Given the description of an element on the screen output the (x, y) to click on. 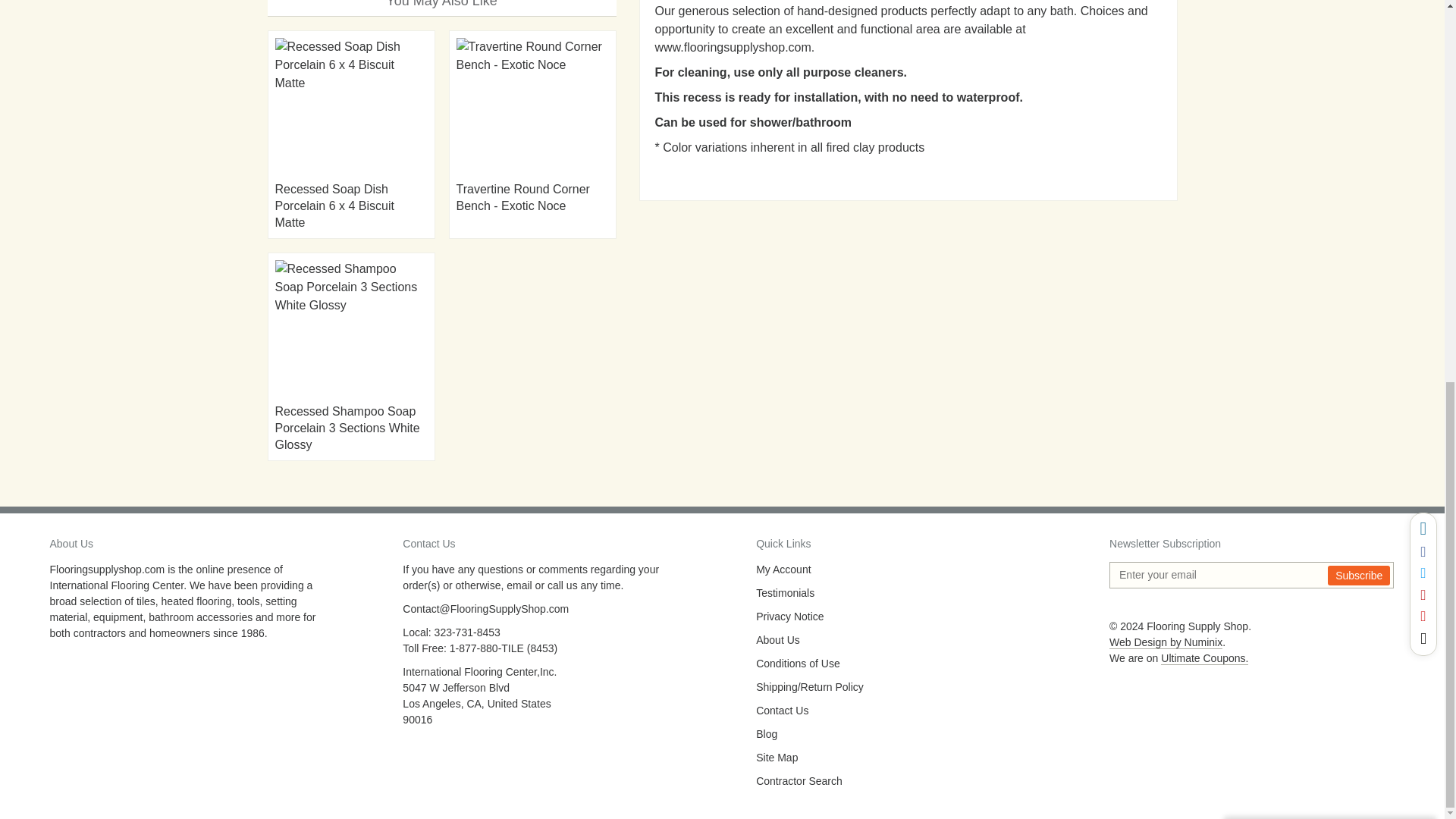
Flooring Supply Shop coupons (1203, 658)
